Given the description of an element on the screen output the (x, y) to click on. 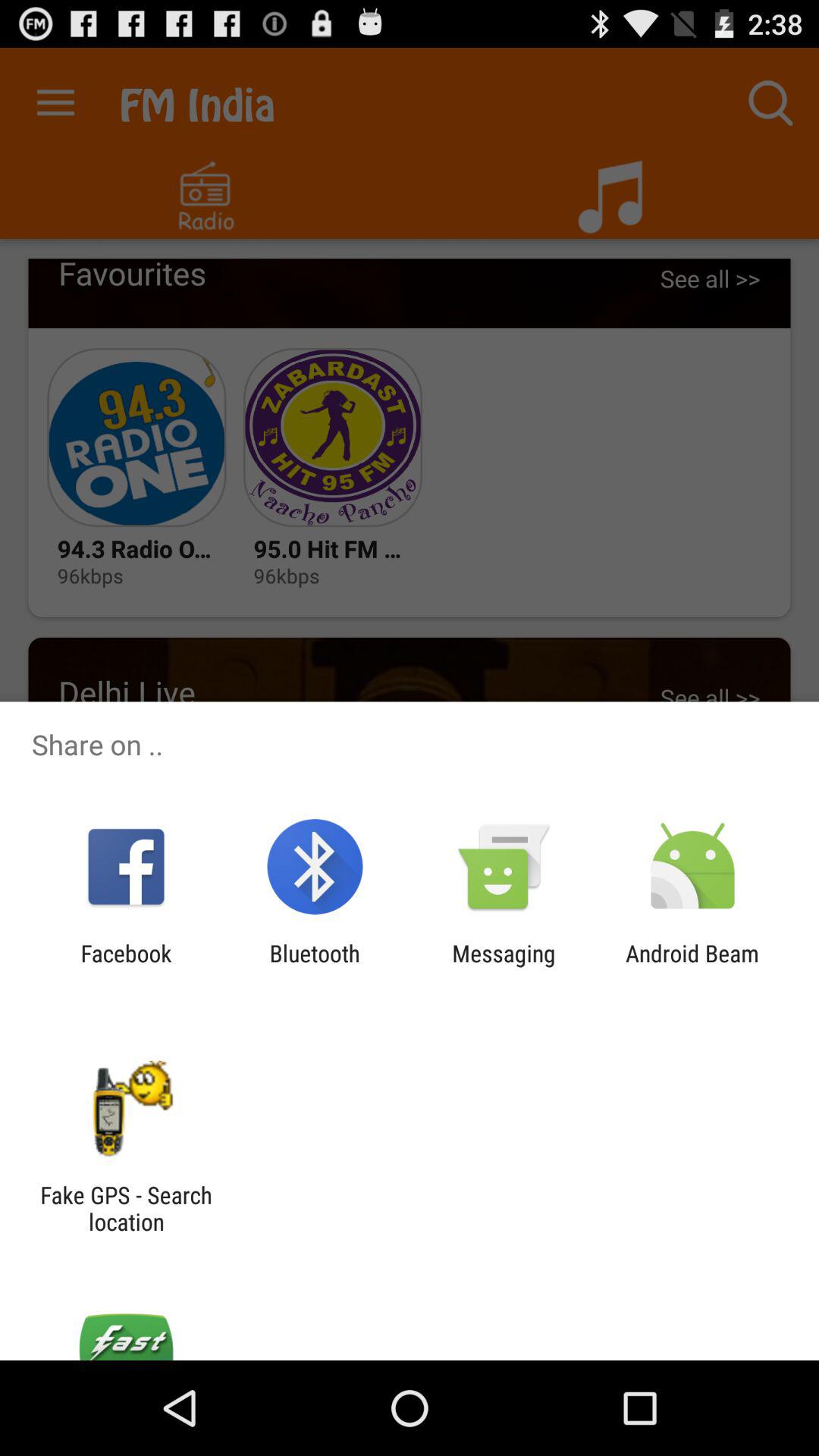
tap the icon next to the messaging item (314, 966)
